Given the description of an element on the screen output the (x, y) to click on. 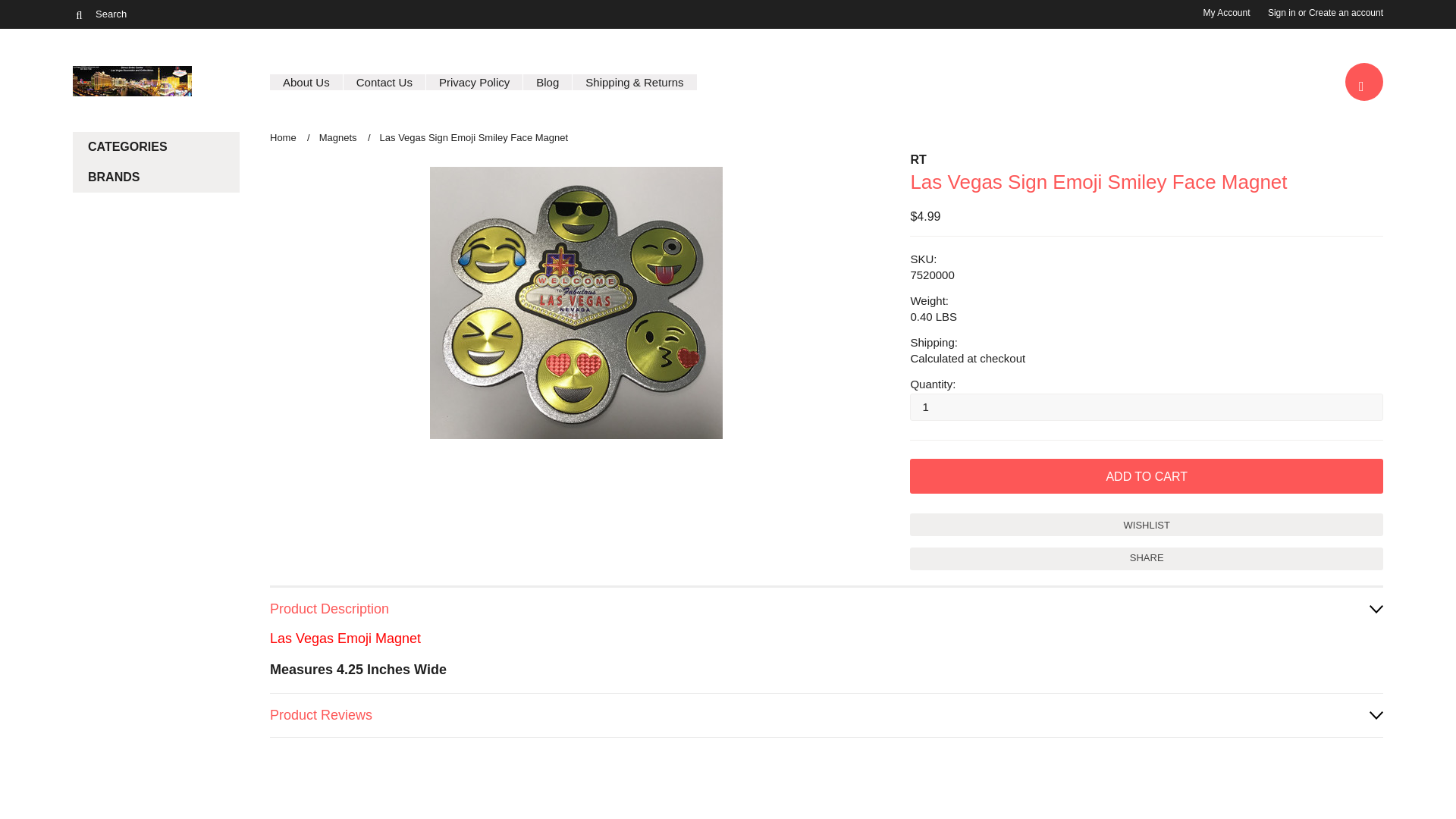
Search (145, 13)
Image 1 (575, 302)
Add To Cart (1146, 475)
View Cart (1363, 84)
Add to Wish List (1146, 524)
Search (78, 14)
1 (1146, 406)
Wishlist (1146, 524)
View Cart (1364, 81)
